Given the description of an element on the screen output the (x, y) to click on. 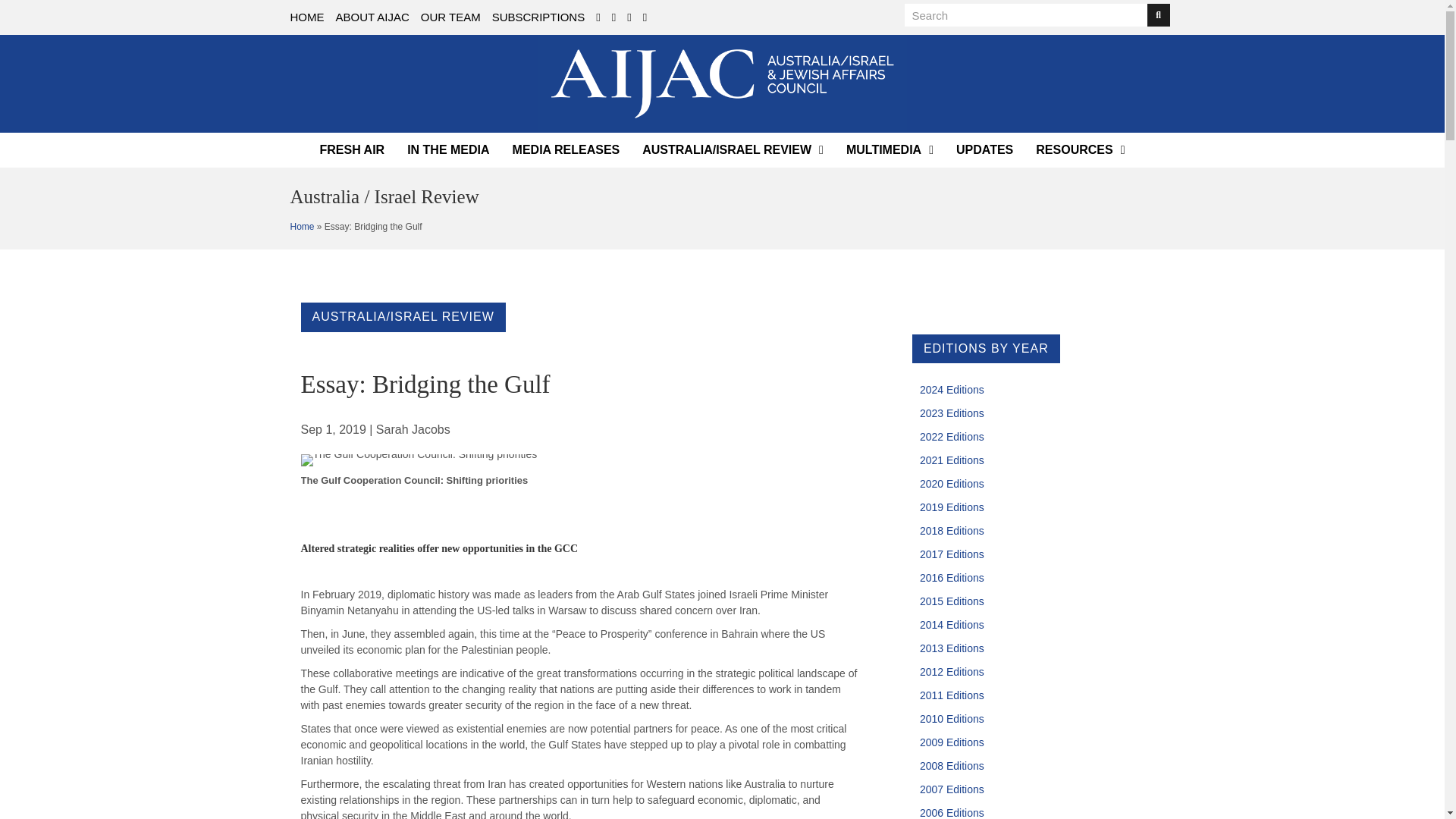
620247 01 02 (418, 460)
ABOUT AIJAC (371, 17)
MEDIA RELEASES (566, 149)
Aijac Logo Blue White 3a (722, 83)
HOME (306, 17)
Search (1025, 15)
IN THE MEDIA (447, 149)
FRESH AIR (353, 149)
OUR TEAM (450, 17)
SUBSCRIPTIONS (538, 17)
